Given the description of an element on the screen output the (x, y) to click on. 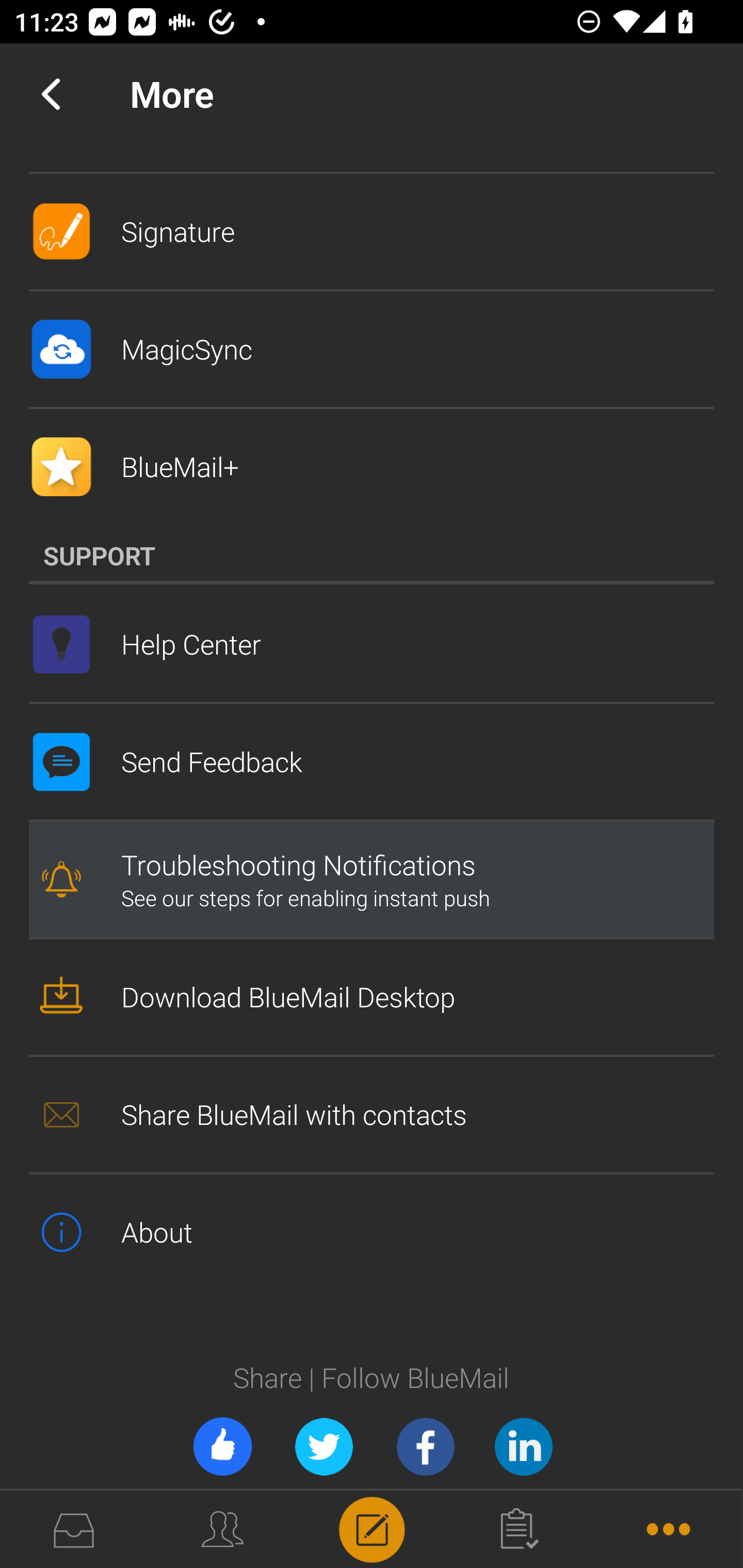
Navigate up (50, 93)
Signature (371, 232)
MagicSync (371, 349)
BlueMail+ (371, 467)
Help Center (371, 644)
Send Feedback (371, 762)
Download BlueMail Desktop (371, 997)
Share BlueMail with contacts (371, 1114)
About (371, 1232)
Invite Friends (222, 1446)
Follow us on Twitter (323, 1446)
Follow us on Facebook (425, 1446)
Follow us on Google plus (523, 1446)
Compose (371, 1528)
